Given the description of an element on the screen output the (x, y) to click on. 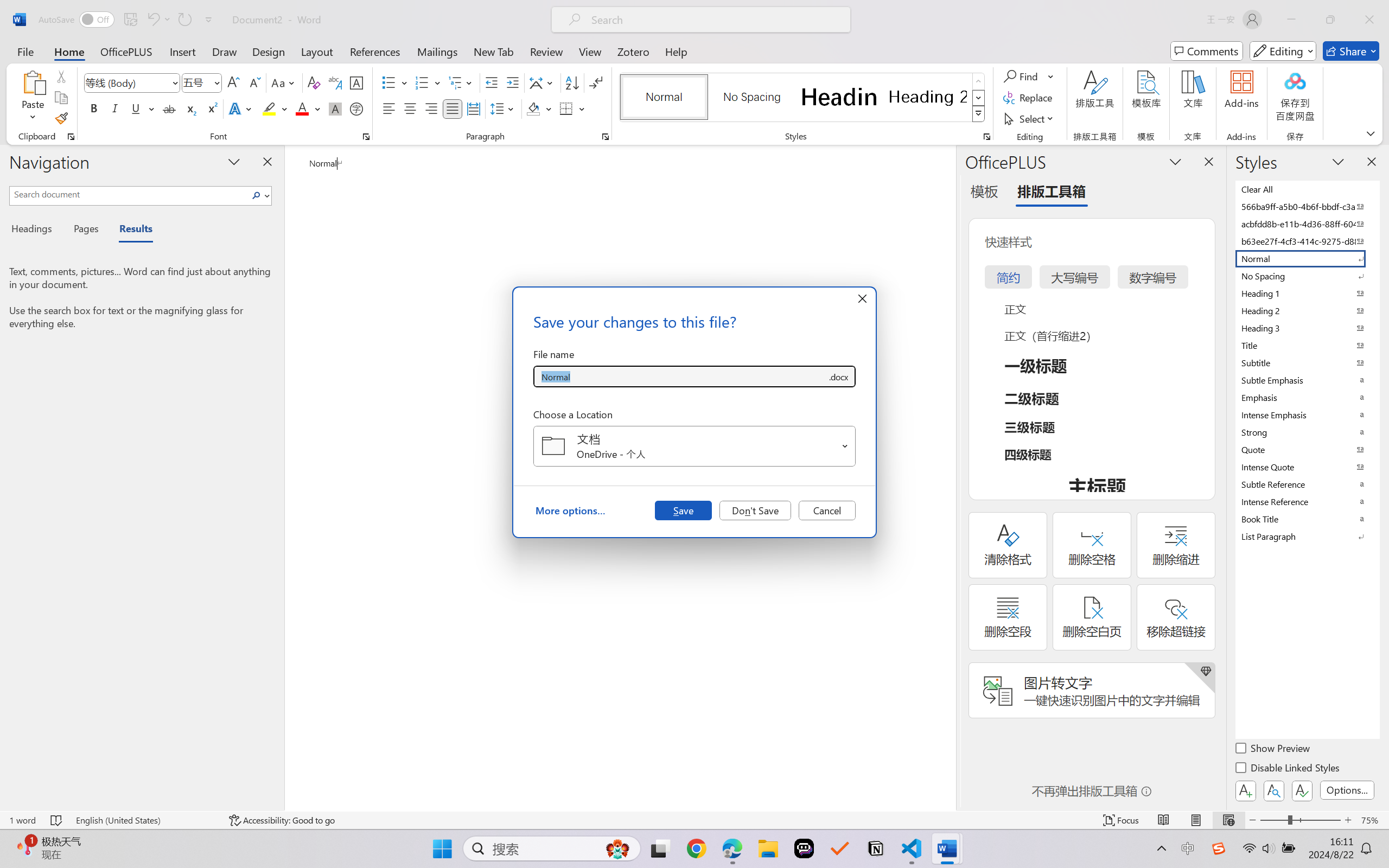
AutomationID: BadgeAnchorLargeTicker (24, 847)
Heading 1 (839, 96)
566ba9ff-a5b0-4b6f-bbdf-c3ab41993fc2 (1306, 206)
Italic (115, 108)
AutoSave (76, 19)
Paragraph... (605, 136)
Choose a Location (694, 446)
Strikethrough (169, 108)
Shading RGB(0, 0, 0) (533, 108)
File name (680, 376)
